Given the description of an element on the screen output the (x, y) to click on. 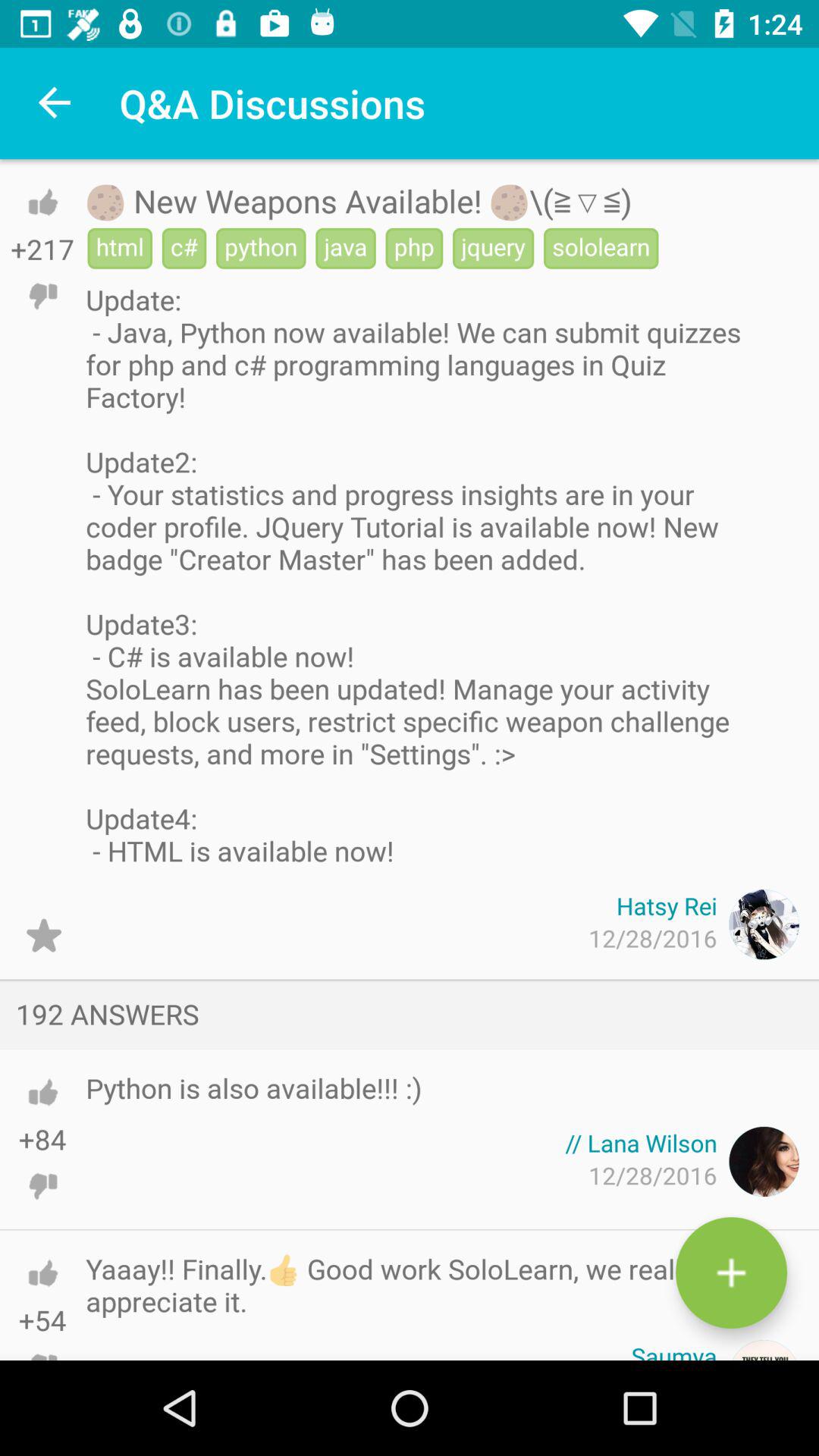
scroll to python is also icon (253, 1087)
